Given the description of an element on the screen output the (x, y) to click on. 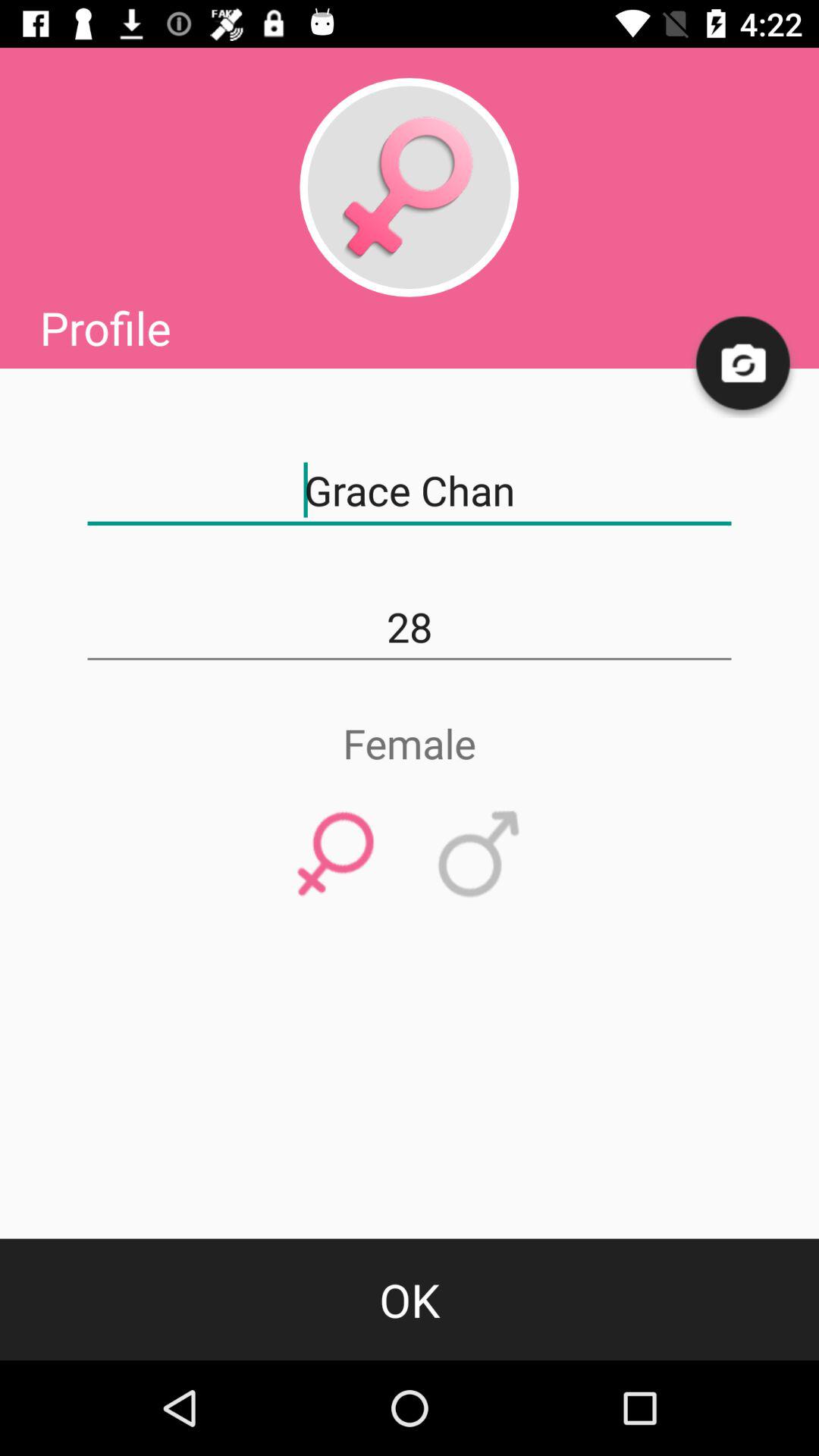
select female (335, 854)
